Given the description of an element on the screen output the (x, y) to click on. 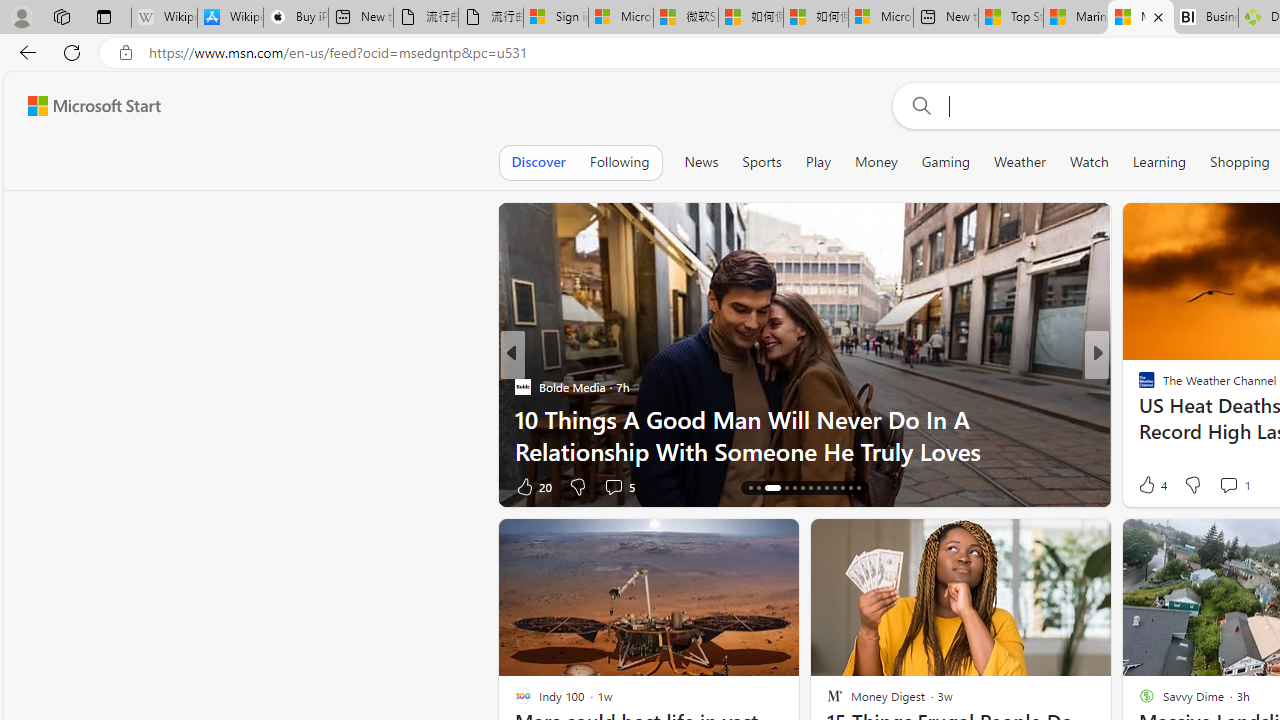
12 Like (1149, 486)
View comments 3 Comment (1241, 486)
View comments 3 Comment (1234, 485)
Money (875, 161)
Weather (1019, 162)
View comments 2 Comment (1234, 486)
Buy iPad - Apple (295, 17)
View comments 53 Comment (1244, 486)
Watch (1089, 161)
38 Like (1149, 486)
